Given the description of an element on the screen output the (x, y) to click on. 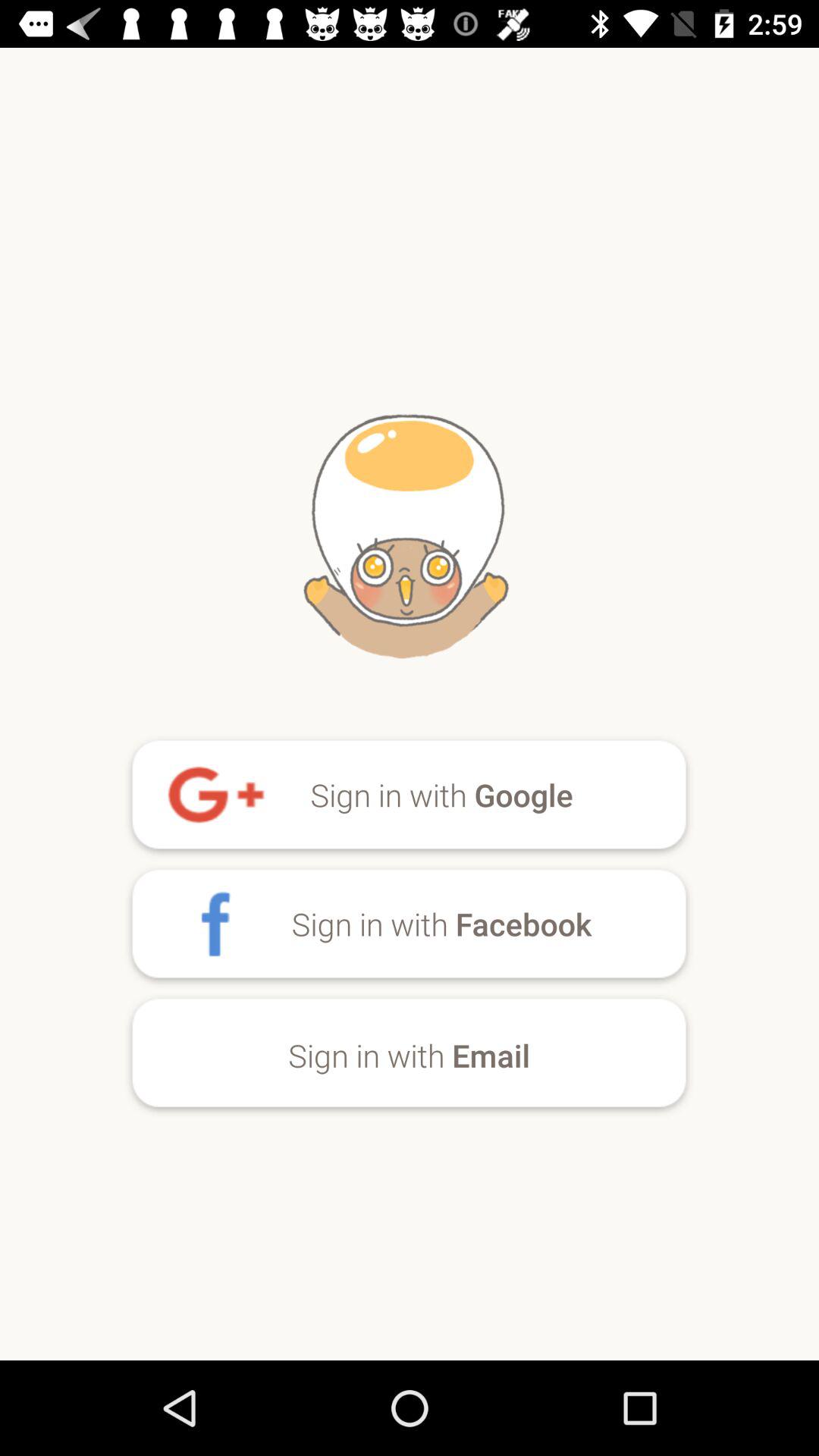
click on sign in with facebook (408, 926)
